Given the description of an element on the screen output the (x, y) to click on. 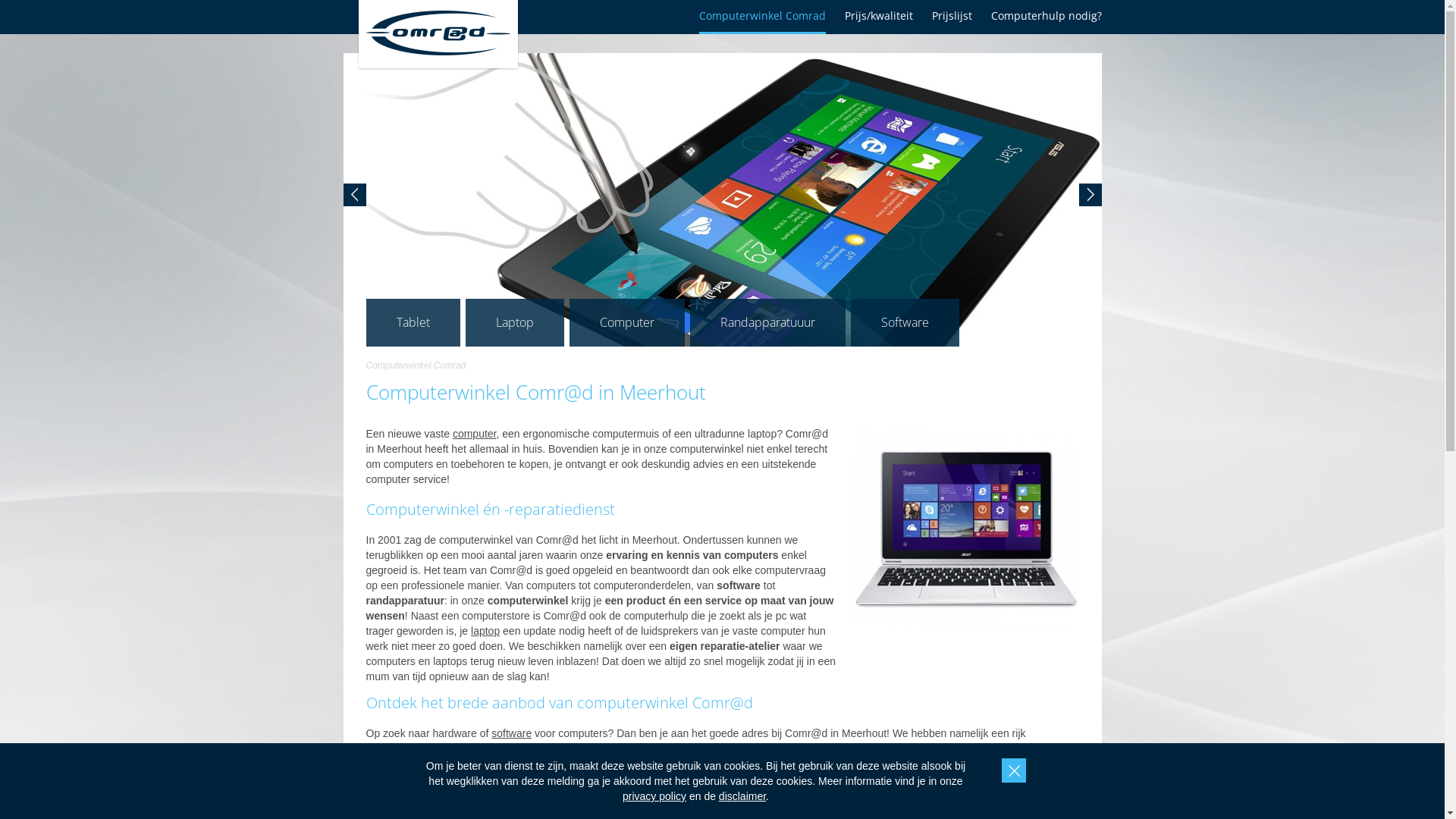
Randapparatuuur Element type: text (767, 321)
Computer Element type: text (626, 321)
Software Element type: text (904, 321)
Prijs/kwaliteit Element type: text (878, 15)
Computerwinkel Comrad Element type: text (415, 365)
software Element type: text (511, 733)
Laptop Element type: text (514, 321)
disclaimer Element type: text (741, 796)
printers Element type: text (846, 763)
privacy policy Element type: text (654, 796)
Prijslijst Element type: text (951, 15)
Tablet Element type: text (412, 321)
Computerwinkel Comrad Element type: text (762, 15)
computer Element type: text (474, 433)
laptop Element type: text (484, 630)
Computerhulp nodig? Element type: text (1045, 15)
